Given the description of an element on the screen output the (x, y) to click on. 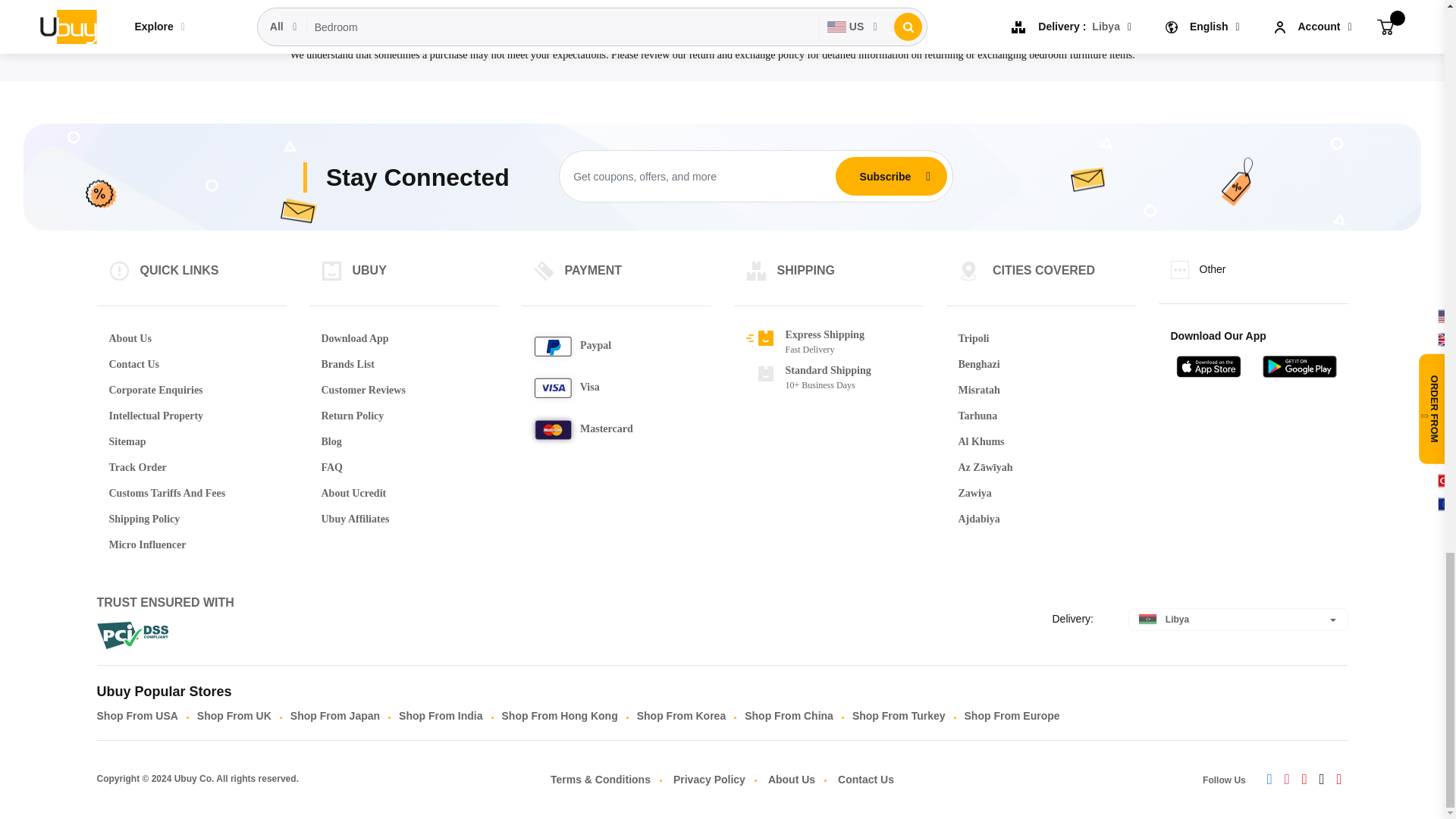
Subscribe (885, 176)
